Given the description of an element on the screen output the (x, y) to click on. 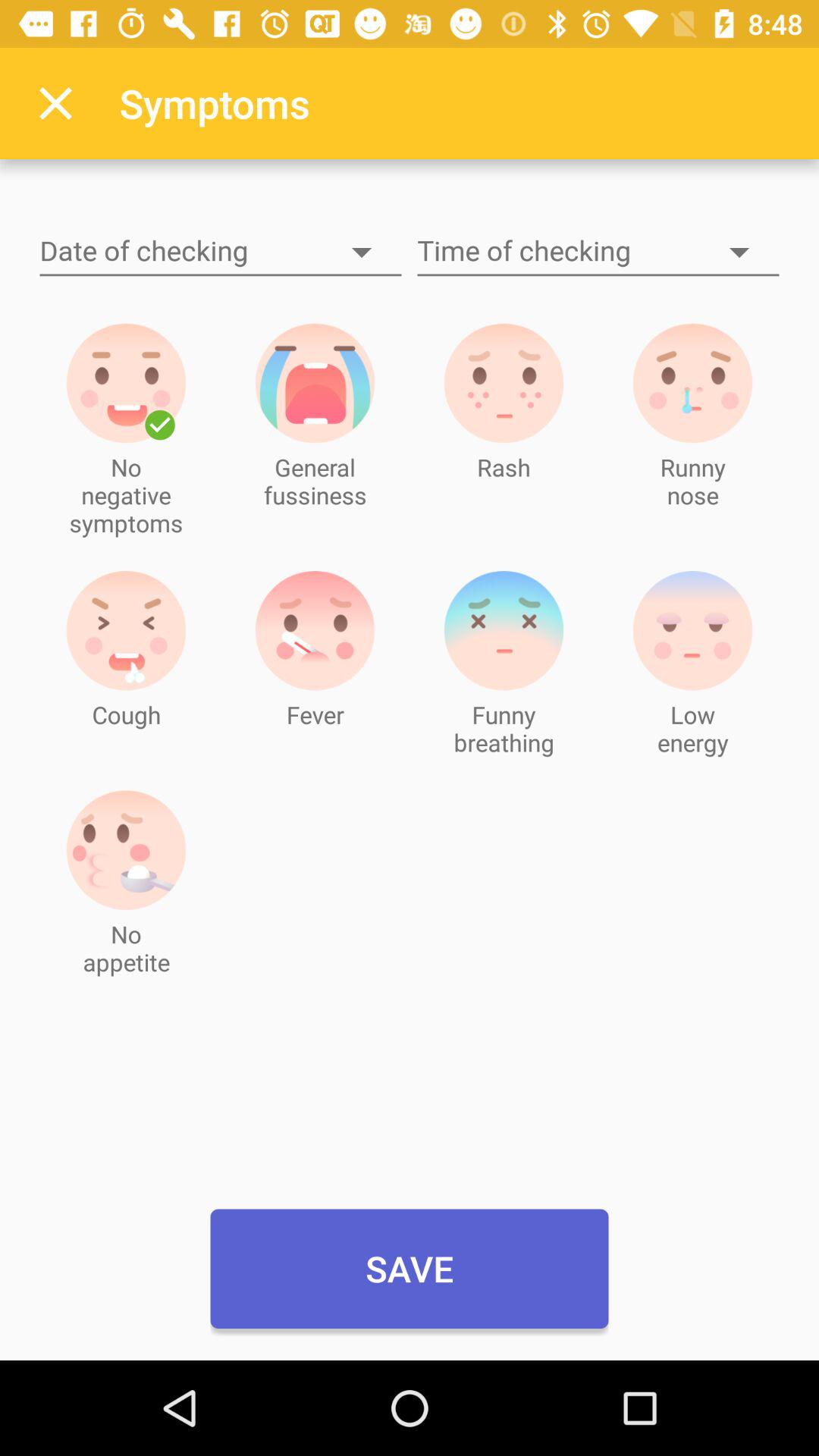
press item to the left of the symptoms app (55, 103)
